Given the description of an element on the screen output the (x, y) to click on. 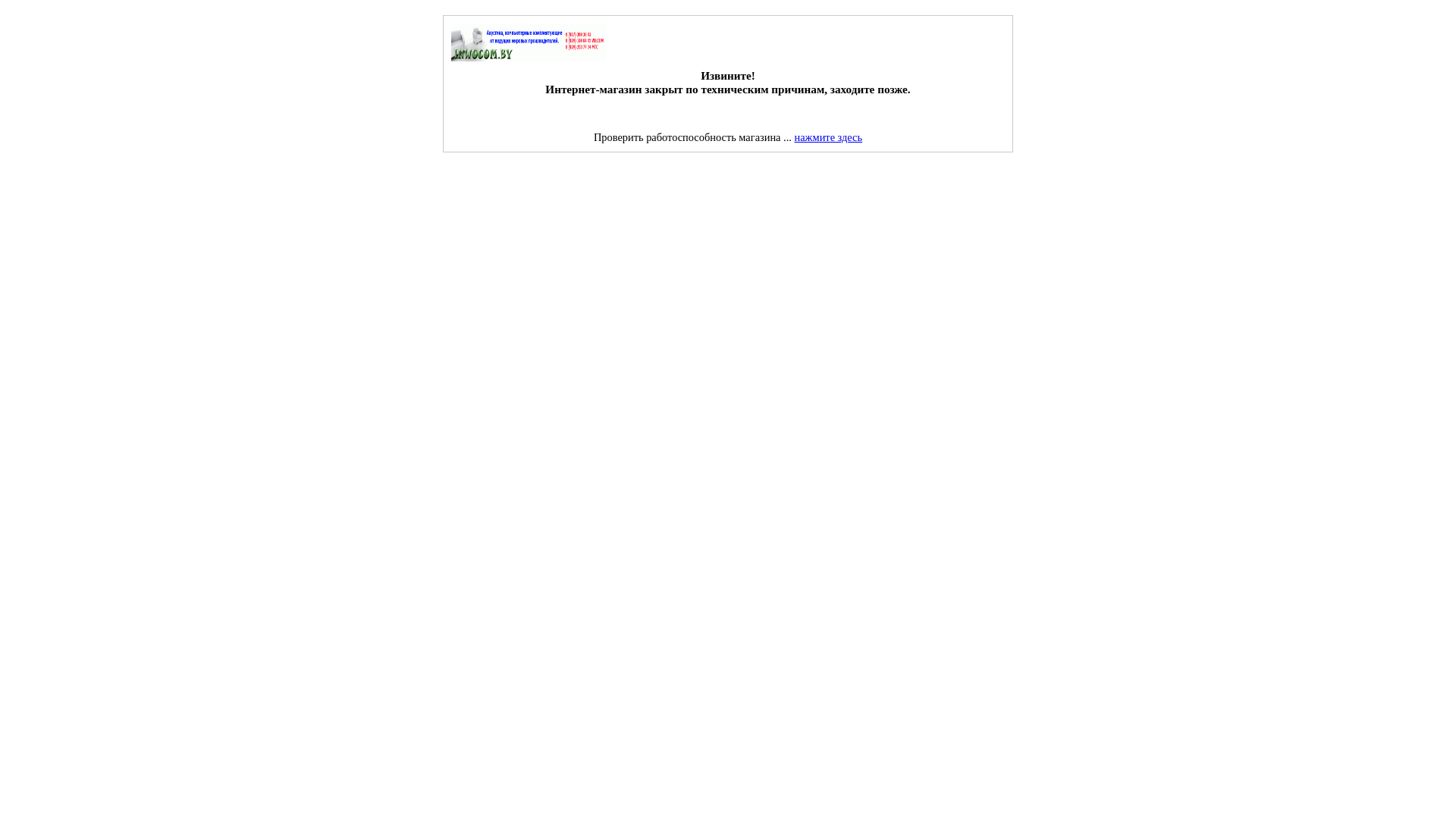
Industrial Safety Bumper Element type: text (106, 170)
osCommerce VaM Edition Element type: hover (528, 42)
